Given the description of an element on the screen output the (x, y) to click on. 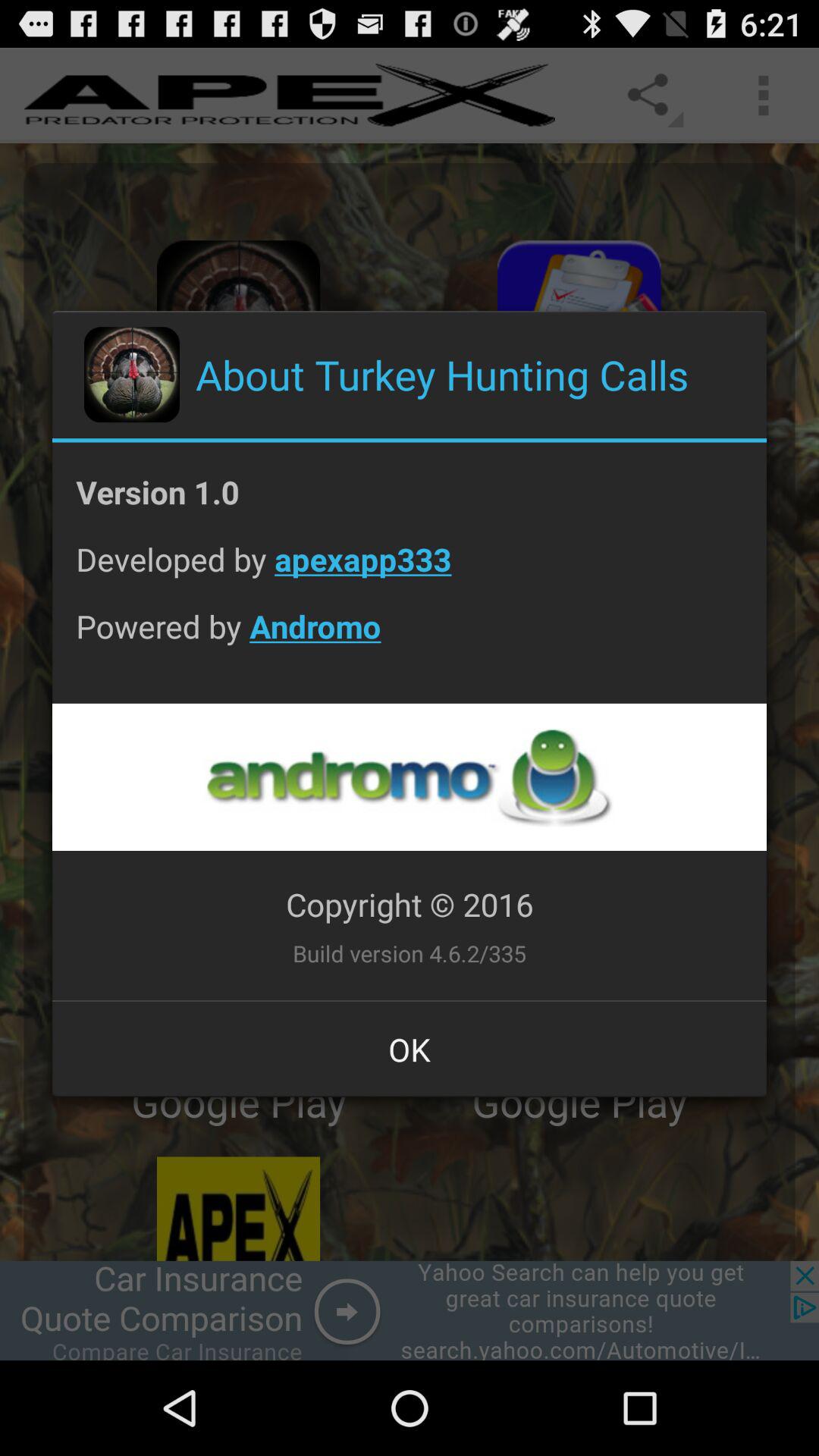
launch the app below the developed by apexapp333 item (409, 637)
